Given the description of an element on the screen output the (x, y) to click on. 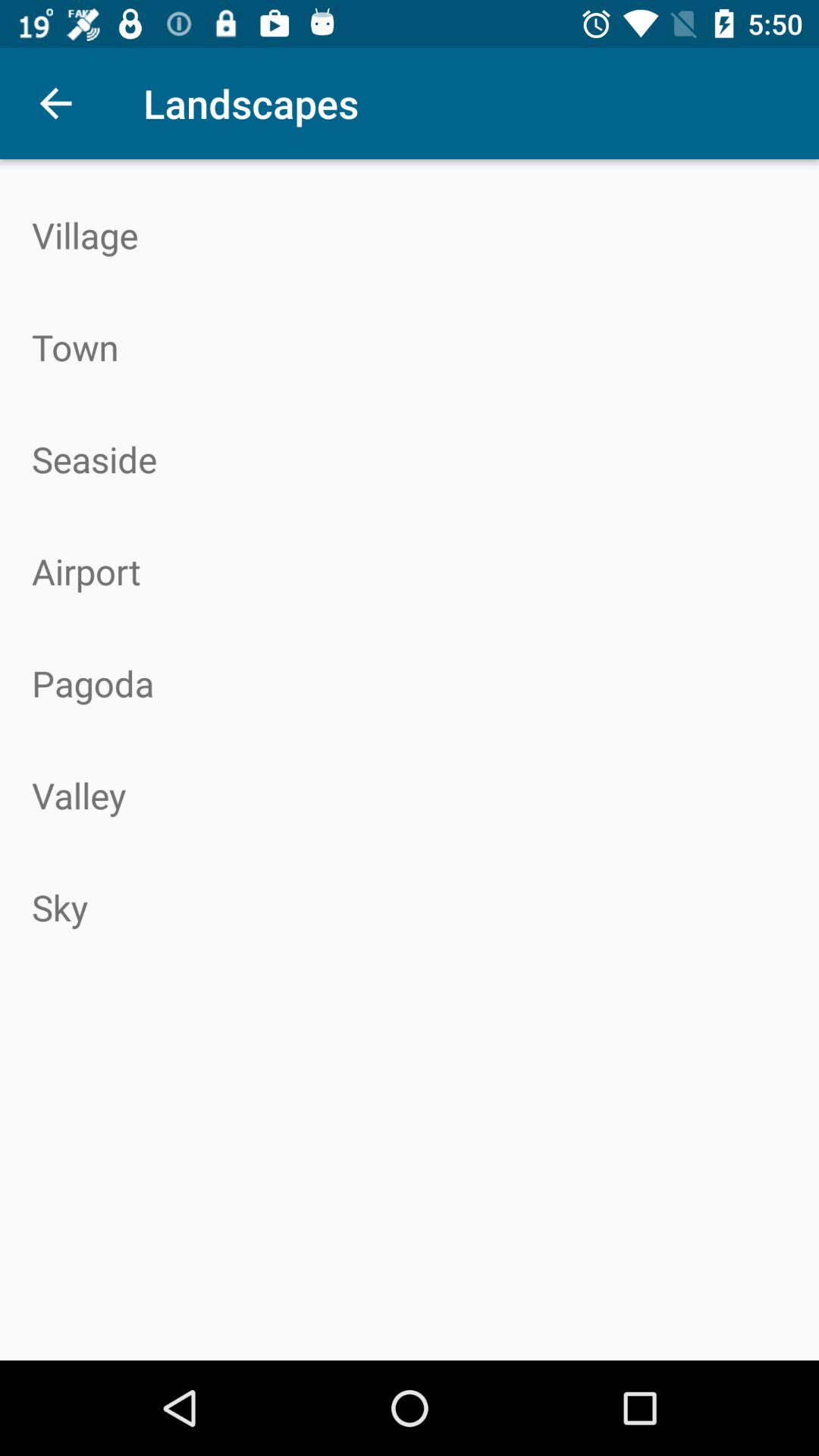
flip to sky item (409, 907)
